Given the description of an element on the screen output the (x, y) to click on. 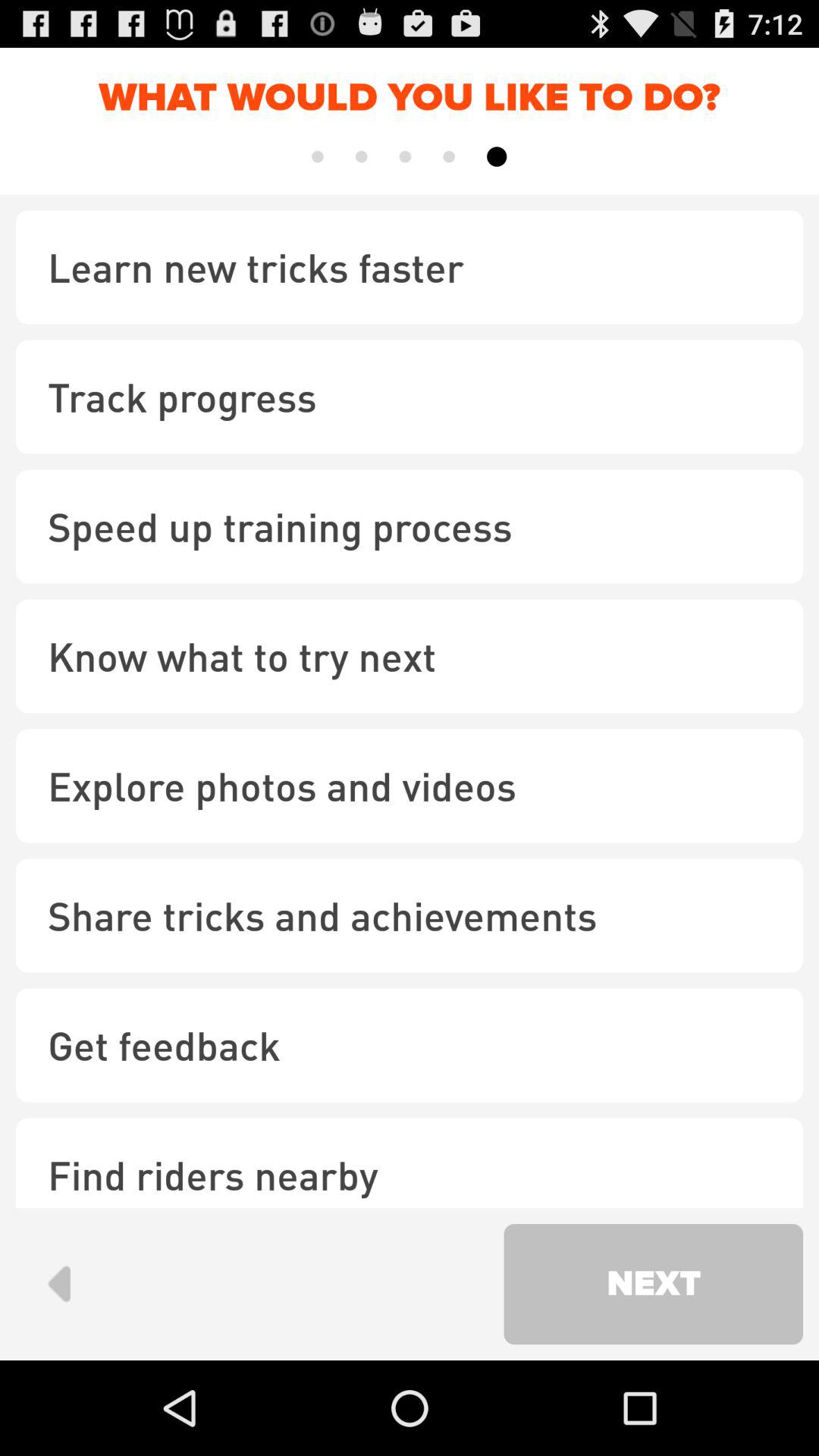
click on icon which is at bottom left (58, 1284)
